Given the description of an element on the screen output the (x, y) to click on. 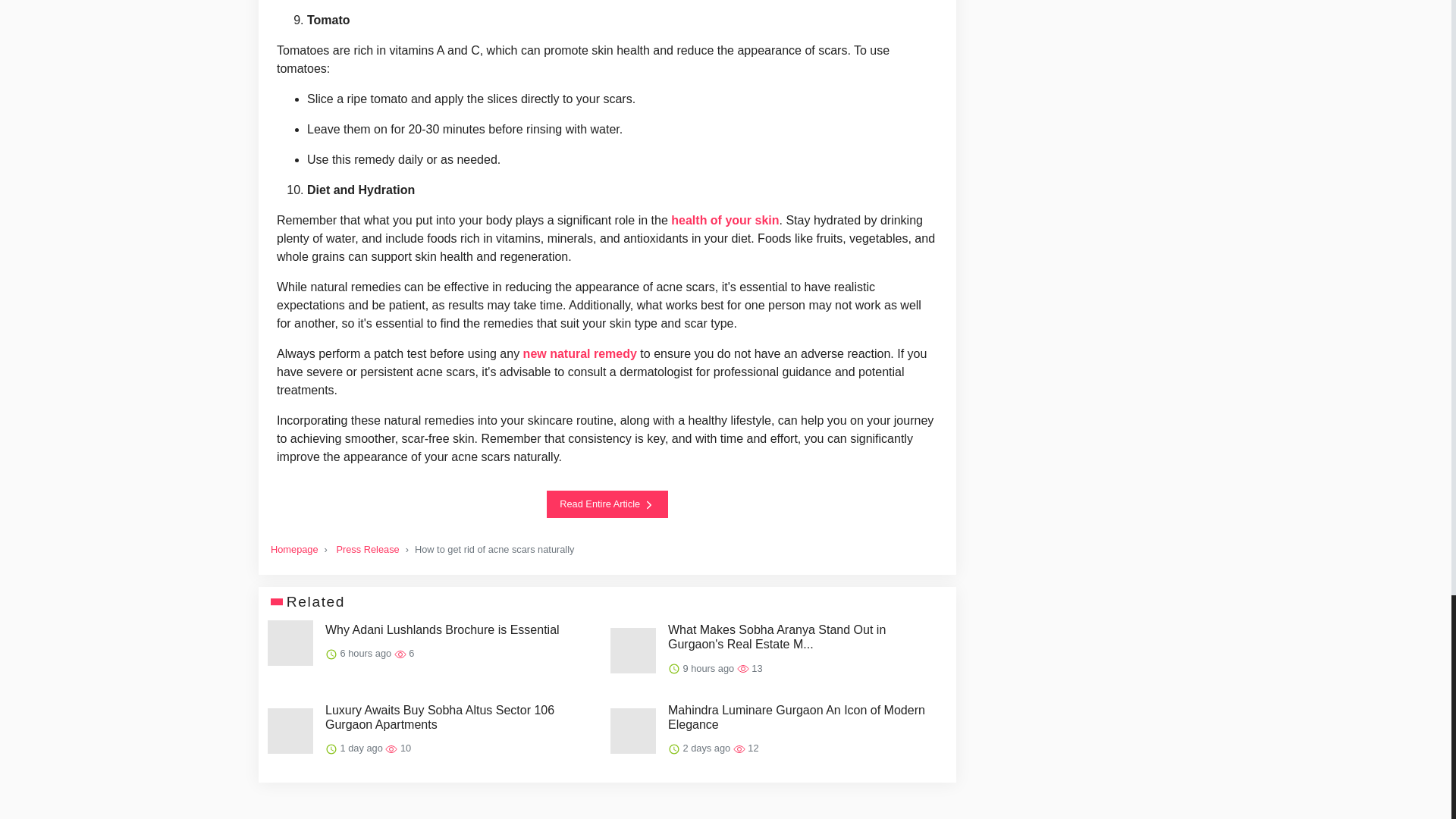
Why Adani Lushlands Brochure is Essential (441, 629)
Press Release (367, 549)
health of your skin (724, 219)
Read Entire Article (607, 503)
Mahindra Luminare Gurgaon An Icon of Modern Elegance (804, 717)
Homepage (294, 549)
Why Adani Lushlands Brochure is Essential (441, 629)
Luxury Awaits Buy Sobha Altus Sector 106 Gurgaon Apartments (461, 717)
Luxury Awaits Buy Sobha Altus Sector 106 Gurgaon Apartments (461, 717)
new natural remedy (579, 353)
